Given the description of an element on the screen output the (x, y) to click on. 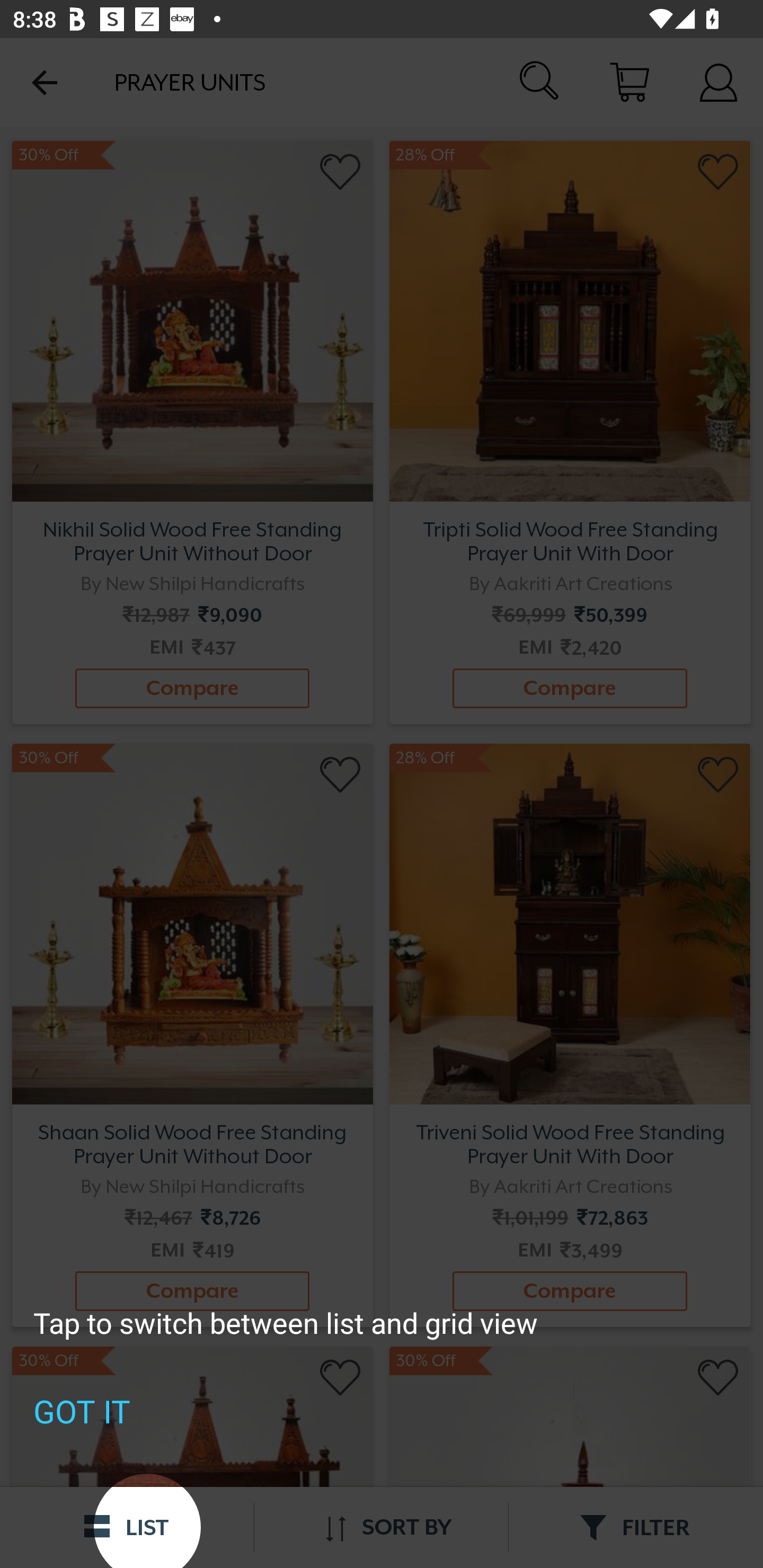
GOT IT (81, 1410)
